Given the description of an element on the screen output the (x, y) to click on. 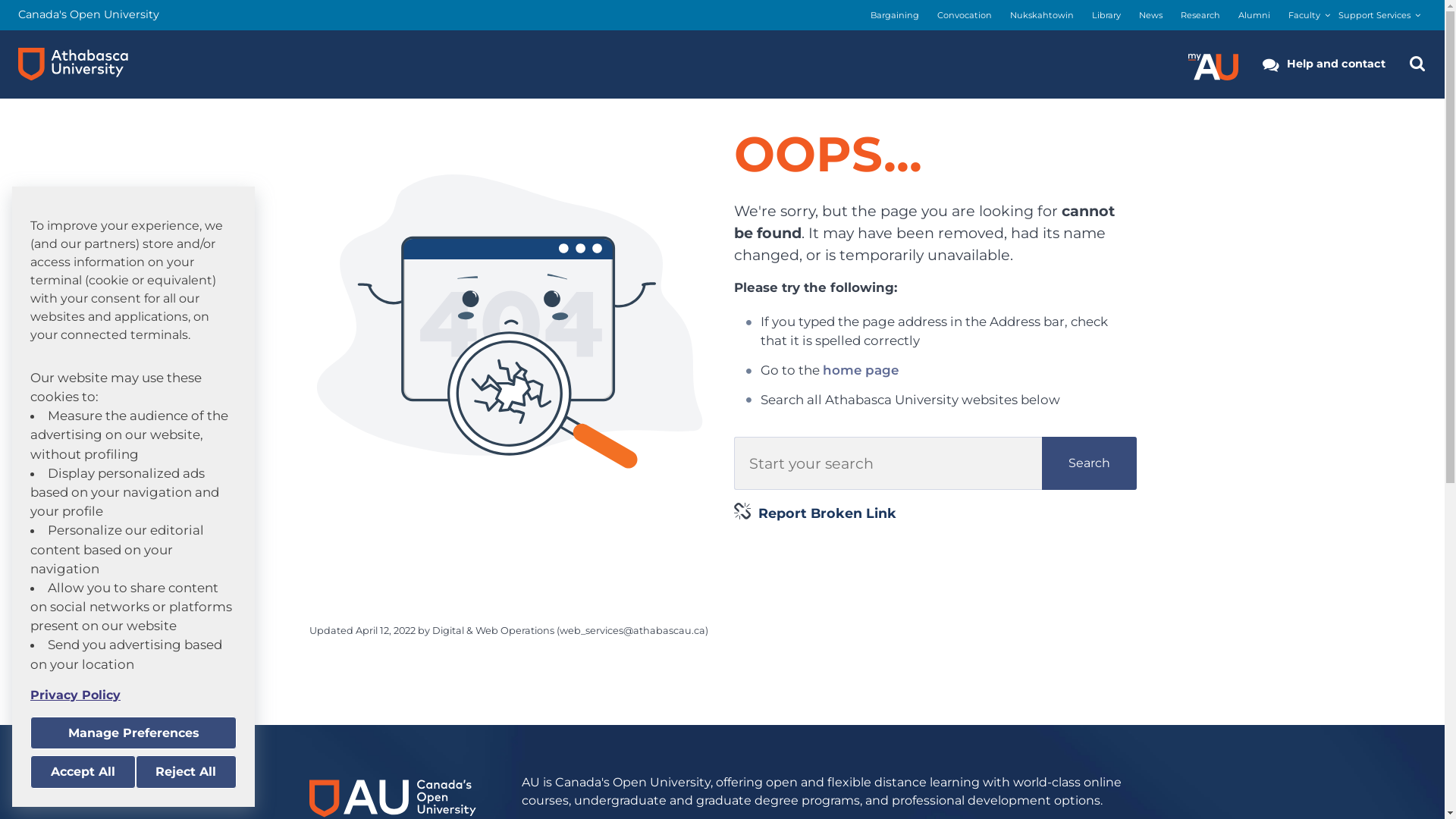
Convocation Element type: text (964, 15)
Library Element type: text (1106, 15)
News Element type: text (1150, 15)
Faculty Element type: text (1304, 15)
Skip to main content Element type: text (0, 0)
Privacy Policy Element type: text (133, 695)
Alumni Element type: text (1254, 15)
Bargaining Element type: text (894, 15)
Manage Preferences Element type: text (133, 732)
home page Element type: text (860, 369)
Accept All Element type: text (82, 771)
Search the Athabasca University Website Element type: hover (1417, 64)
Research Element type: text (1200, 15)
Nukskahtowin Element type: text (1041, 15)
Athabasca University logo Element type: text (73, 64)
Search Element type: text (1088, 462)
Help and contact Element type: text (1323, 64)
Reject All Element type: text (185, 771)
Support Services Element type: text (1374, 15)
